Given the description of an element on the screen output the (x, y) to click on. 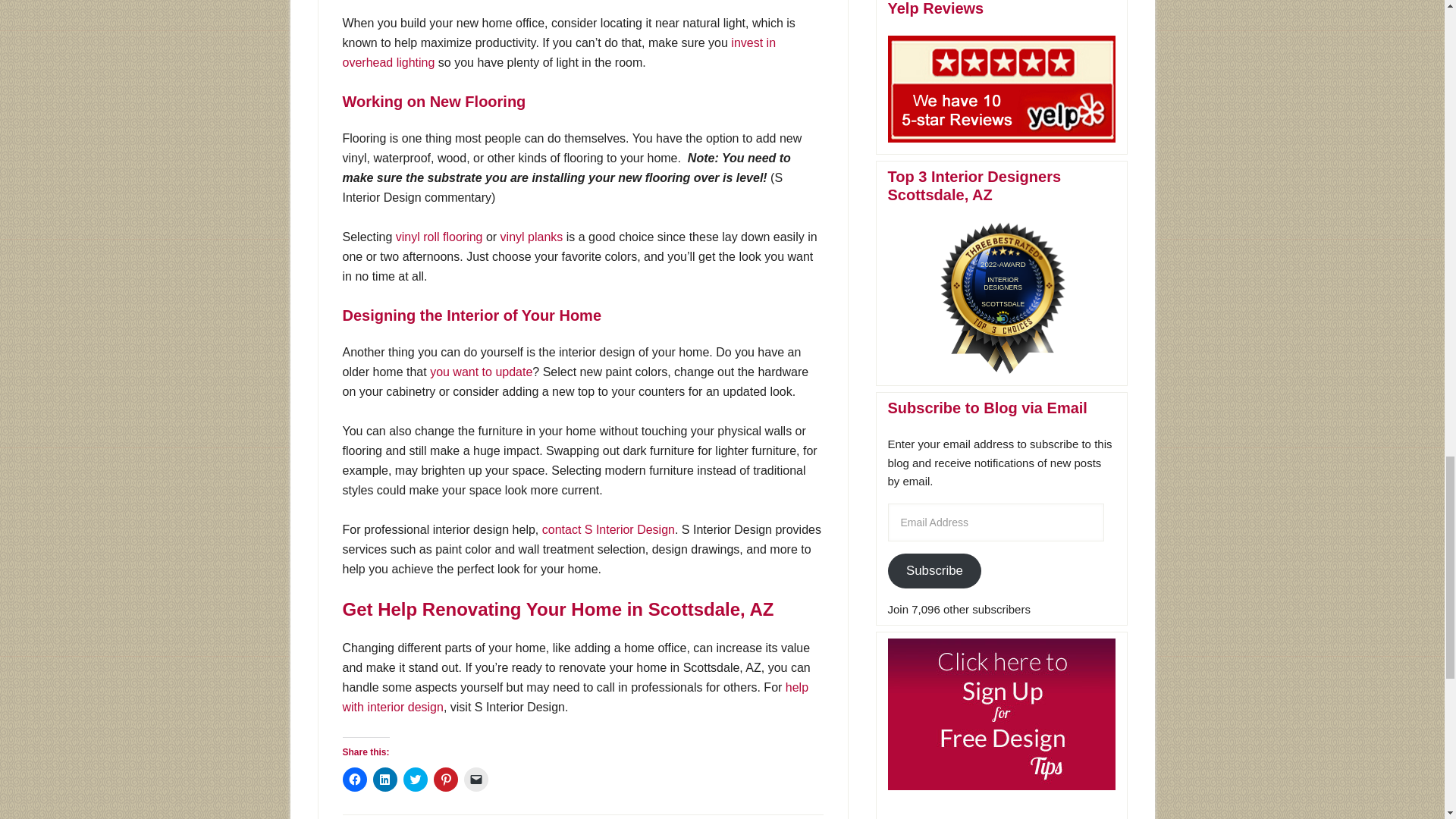
Click to email a link to a friend (475, 779)
you want to update (480, 371)
Click to share on Twitter (415, 779)
vinyl roll flooring (439, 236)
Click to share on Pinterest (445, 779)
invest in overhead lighting (559, 52)
Click to share on LinkedIn (384, 779)
contact S Interior Design (608, 529)
help with interior design (575, 696)
Click to share on Facebook (354, 779)
vinyl planks (531, 236)
